Given the description of an element on the screen output the (x, y) to click on. 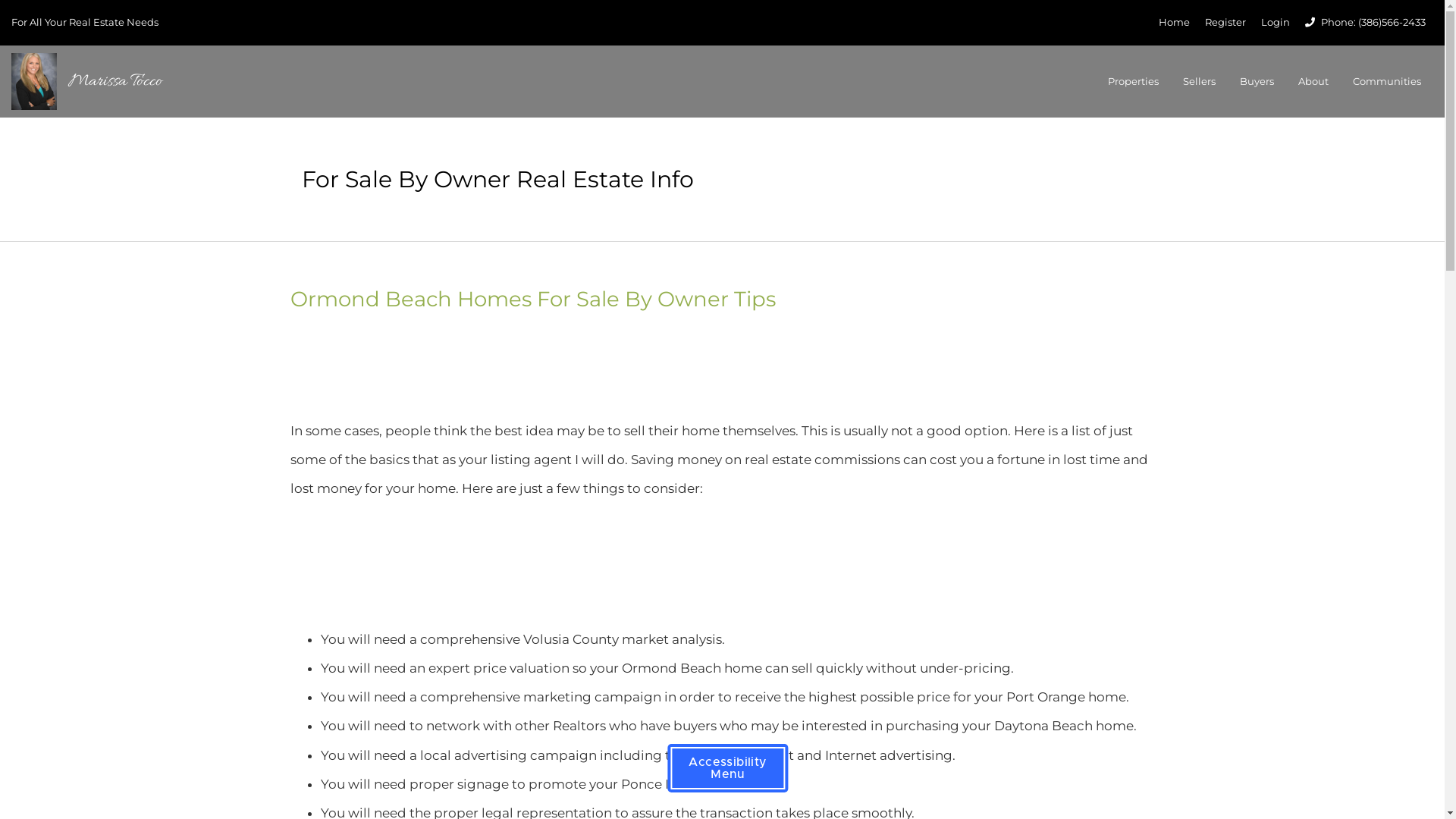
Buyers Element type: text (1256, 80)
Properties Element type: text (1132, 80)
Login Element type: text (1275, 22)
Communities Element type: text (1386, 80)
About Element type: text (1313, 80)
Phone: (386)566-2433 Element type: text (1365, 21)
Register Element type: text (1225, 22)
Sellers Element type: text (1198, 80)
Home Element type: text (1174, 22)
Marissa Tocco Element type: text (92, 81)
